Given the description of an element on the screen output the (x, y) to click on. 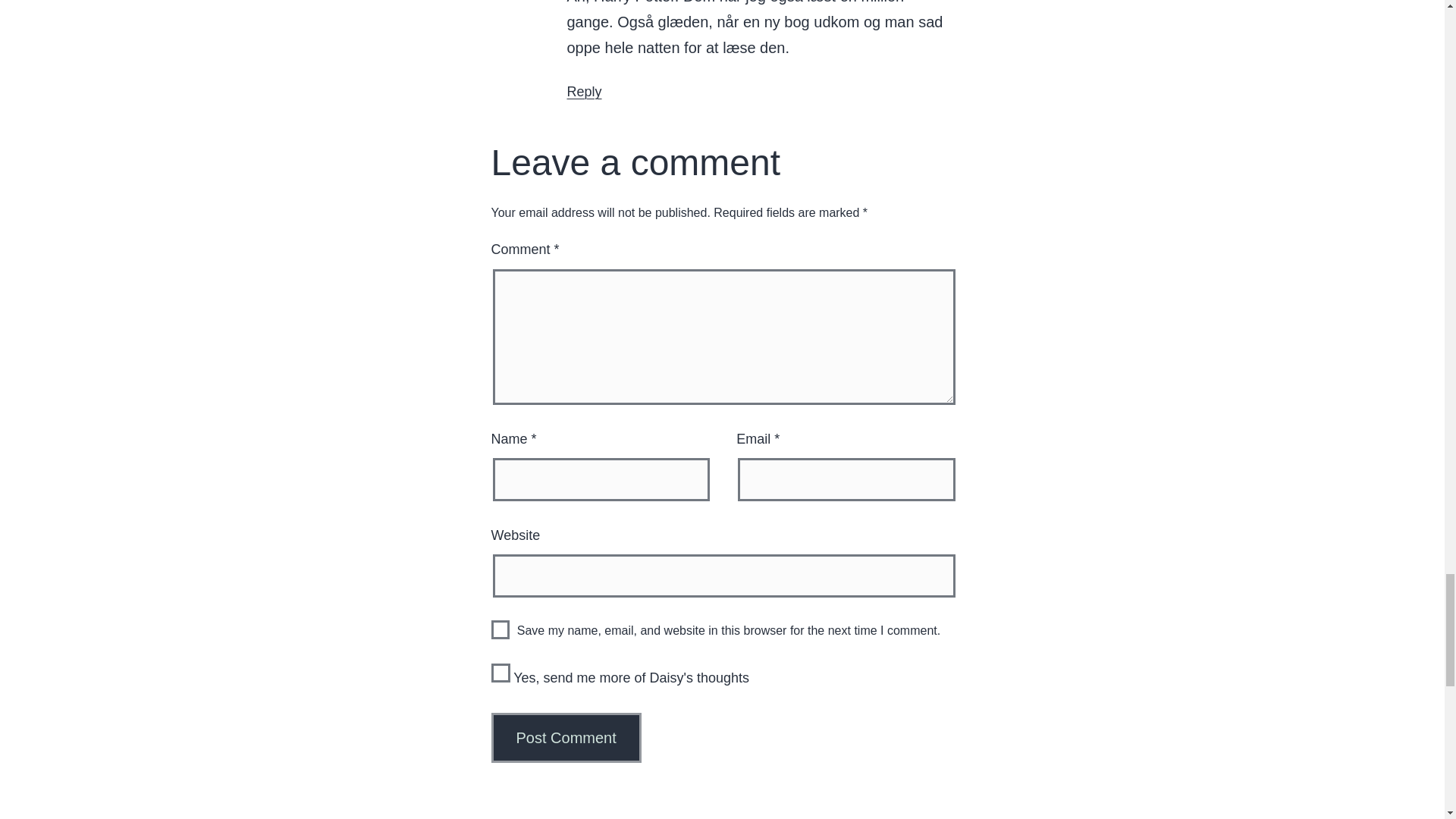
1 (501, 672)
Post Comment (567, 737)
yes (500, 629)
Post Comment (567, 737)
Reply (584, 91)
